Given the description of an element on the screen output the (x, y) to click on. 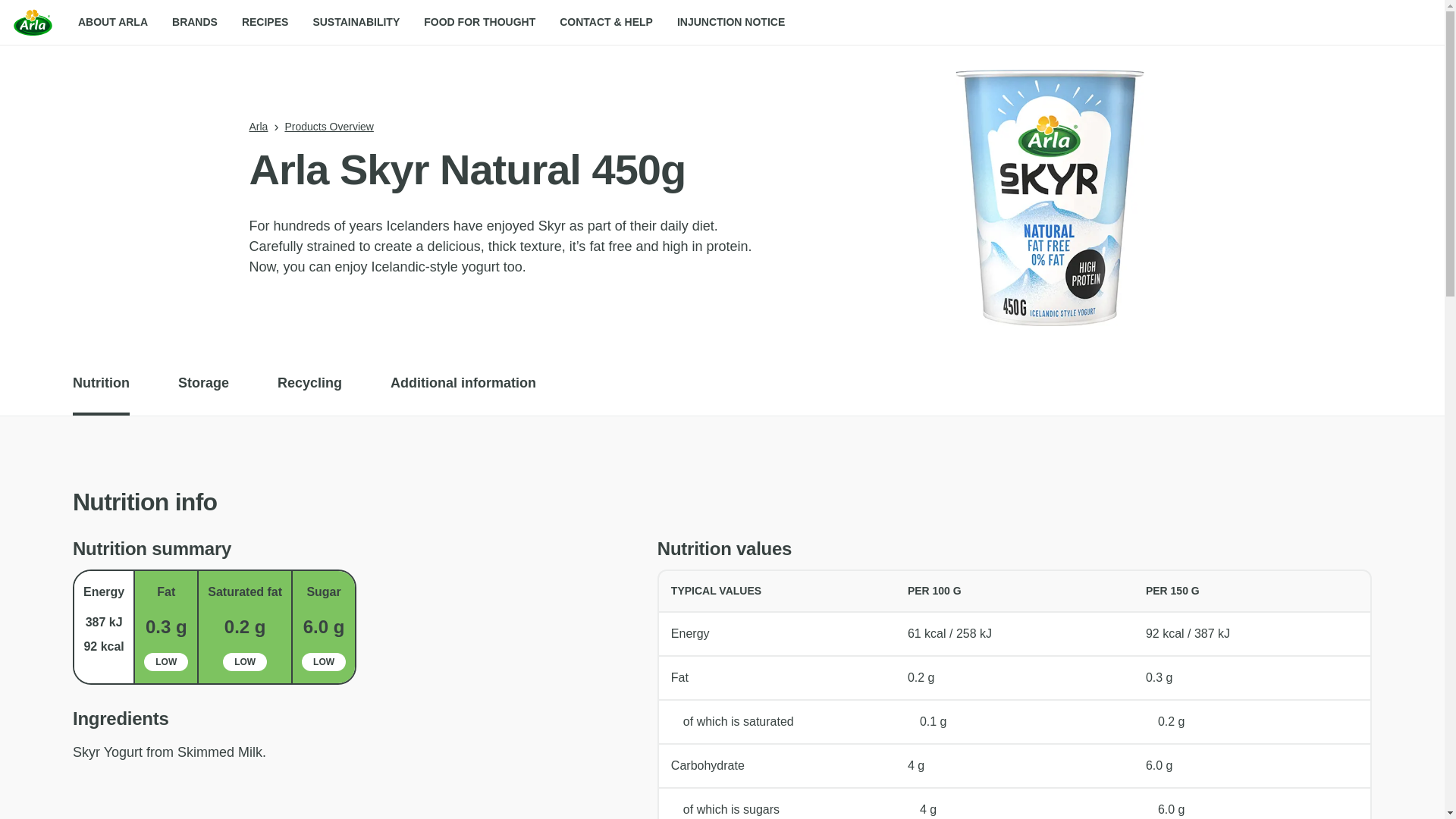
BRANDS (195, 22)
RECIPES (264, 22)
ABOUT ARLA (112, 22)
